Given the description of an element on the screen output the (x, y) to click on. 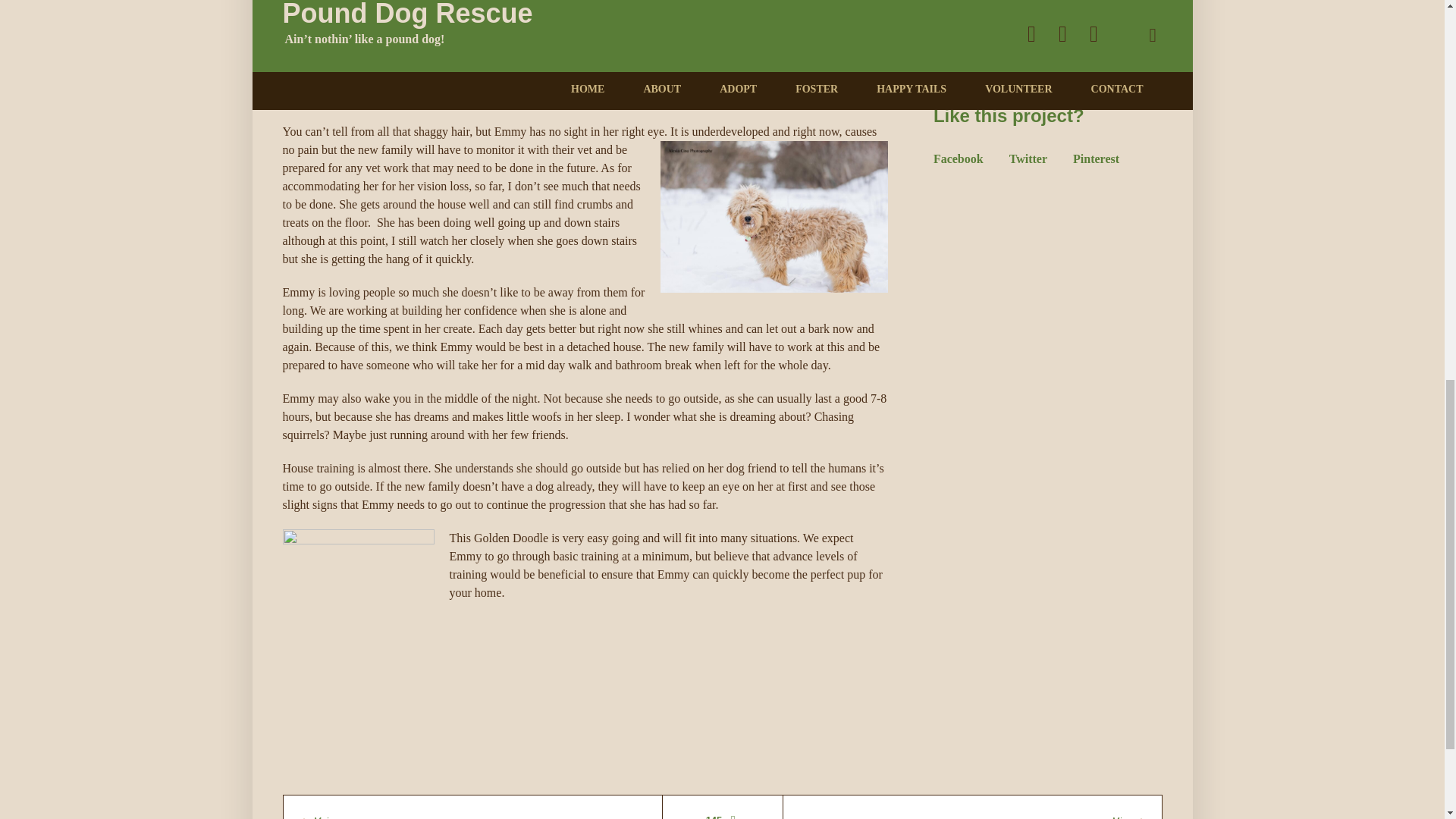
Mizu (1128, 816)
Pinterest (1096, 158)
Mojo (315, 816)
Facebook (958, 158)
Twitter (1027, 158)
145 (722, 815)
